Given the description of an element on the screen output the (x, y) to click on. 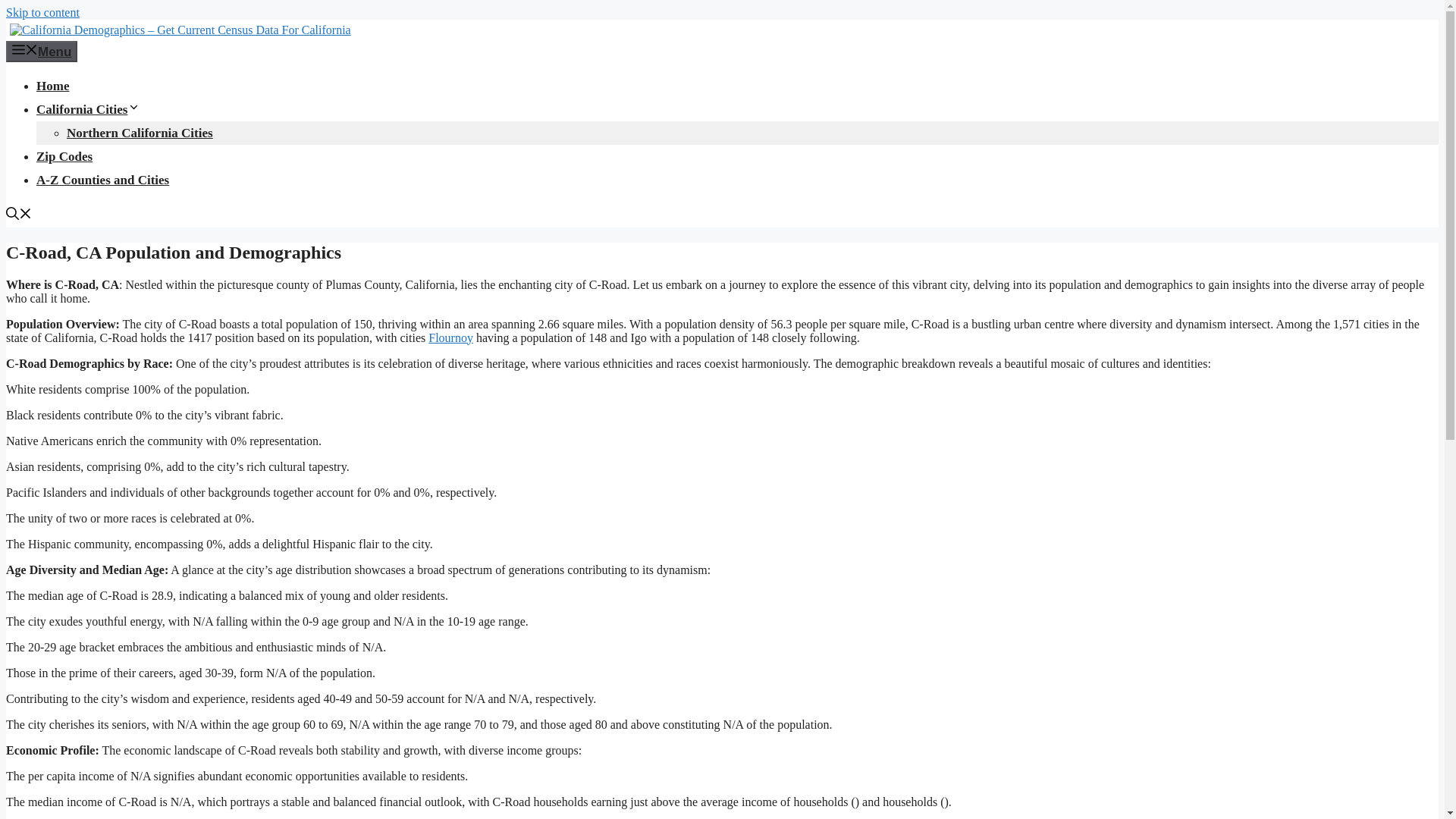
California Cities (87, 109)
Flournoy (450, 336)
Northern California Cities (139, 133)
Zip Codes (64, 156)
Skip to content (42, 11)
Home (52, 85)
Menu (41, 51)
Flournoy (450, 336)
A-Z Counties and Cities (102, 179)
Skip to content (42, 11)
